Given the description of an element on the screen output the (x, y) to click on. 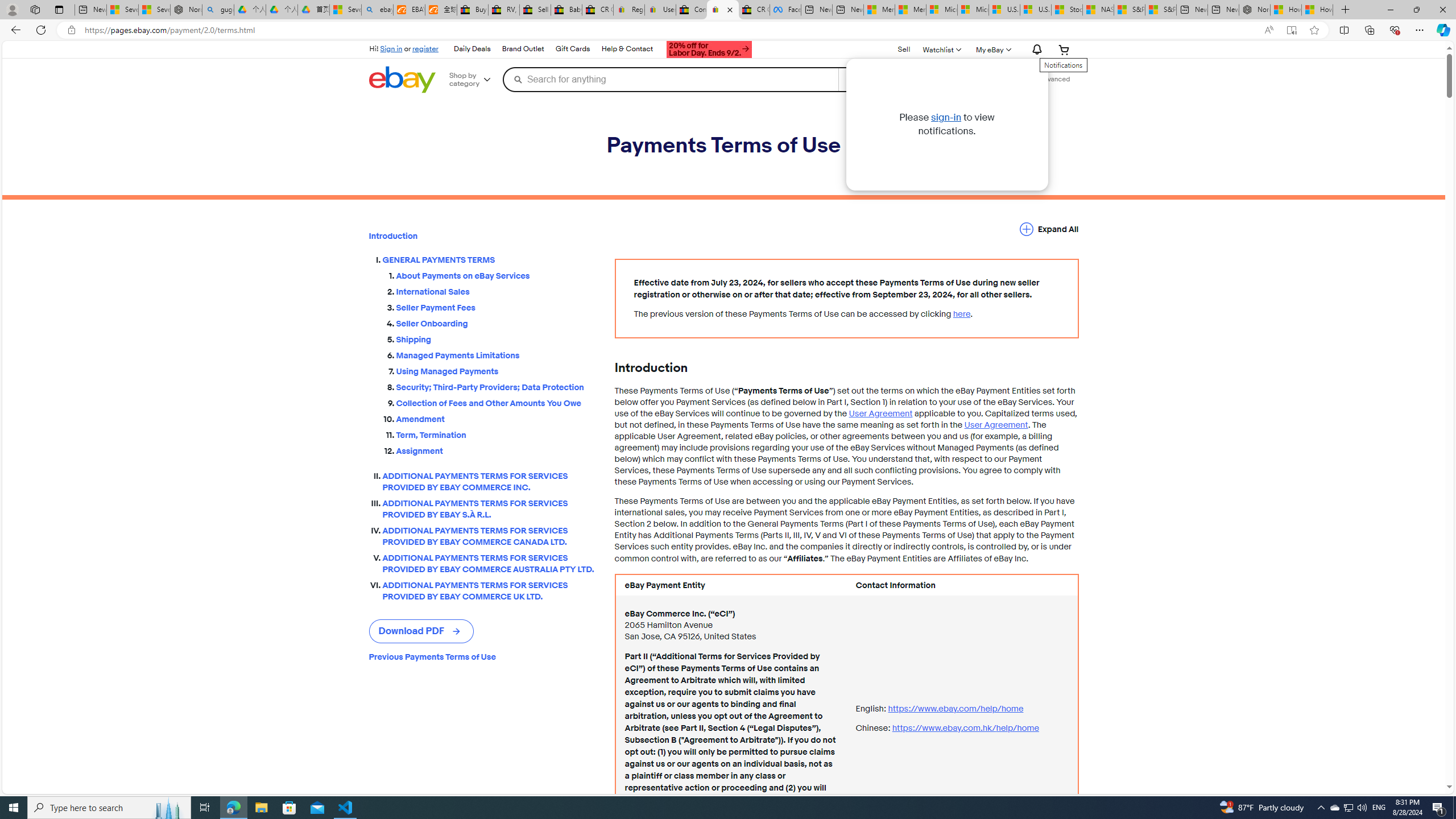
Class: ski-btn__arrow (456, 631)
eBay Home (401, 79)
Collection of Fees and Other Amounts You Owe (496, 401)
Brand Outlet (523, 49)
About Payments on eBay Services (496, 275)
International Sales (496, 289)
here (961, 314)
Using Managed Payments (496, 371)
Assignment (496, 448)
